Given the description of an element on the screen output the (x, y) to click on. 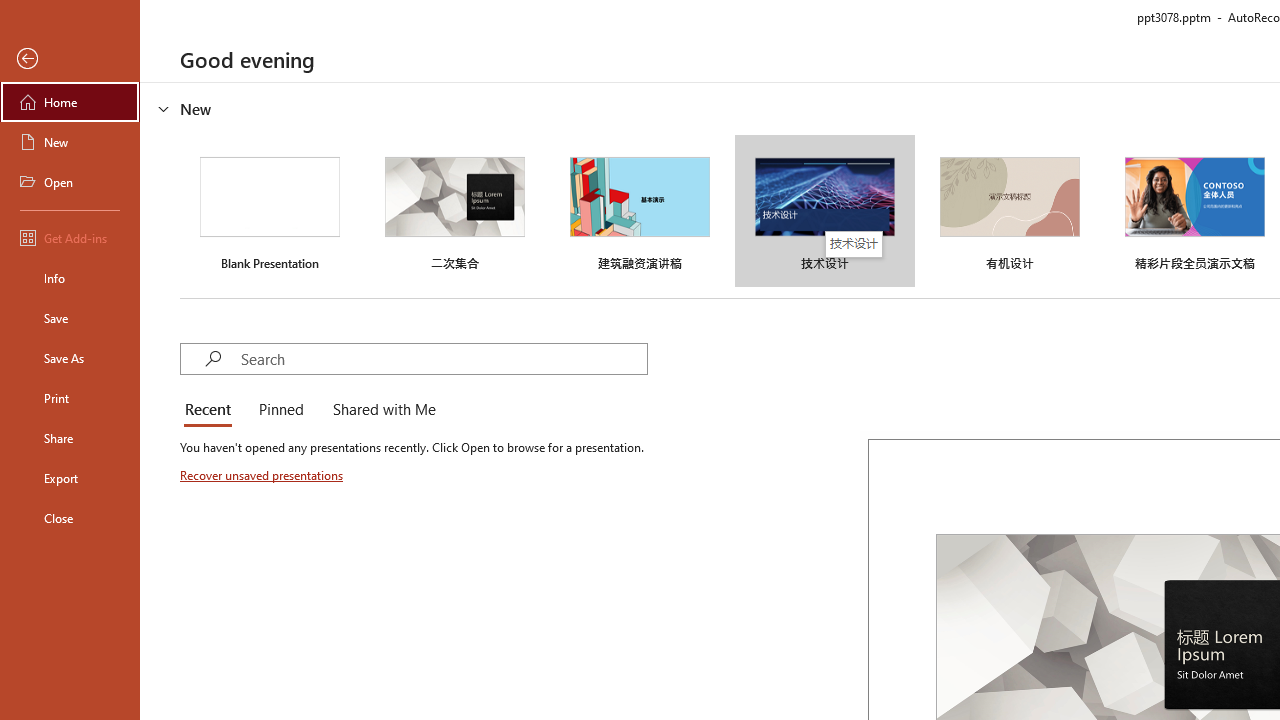
New (69, 141)
Save As (69, 357)
Back (69, 59)
